Given the description of an element on the screen output the (x, y) to click on. 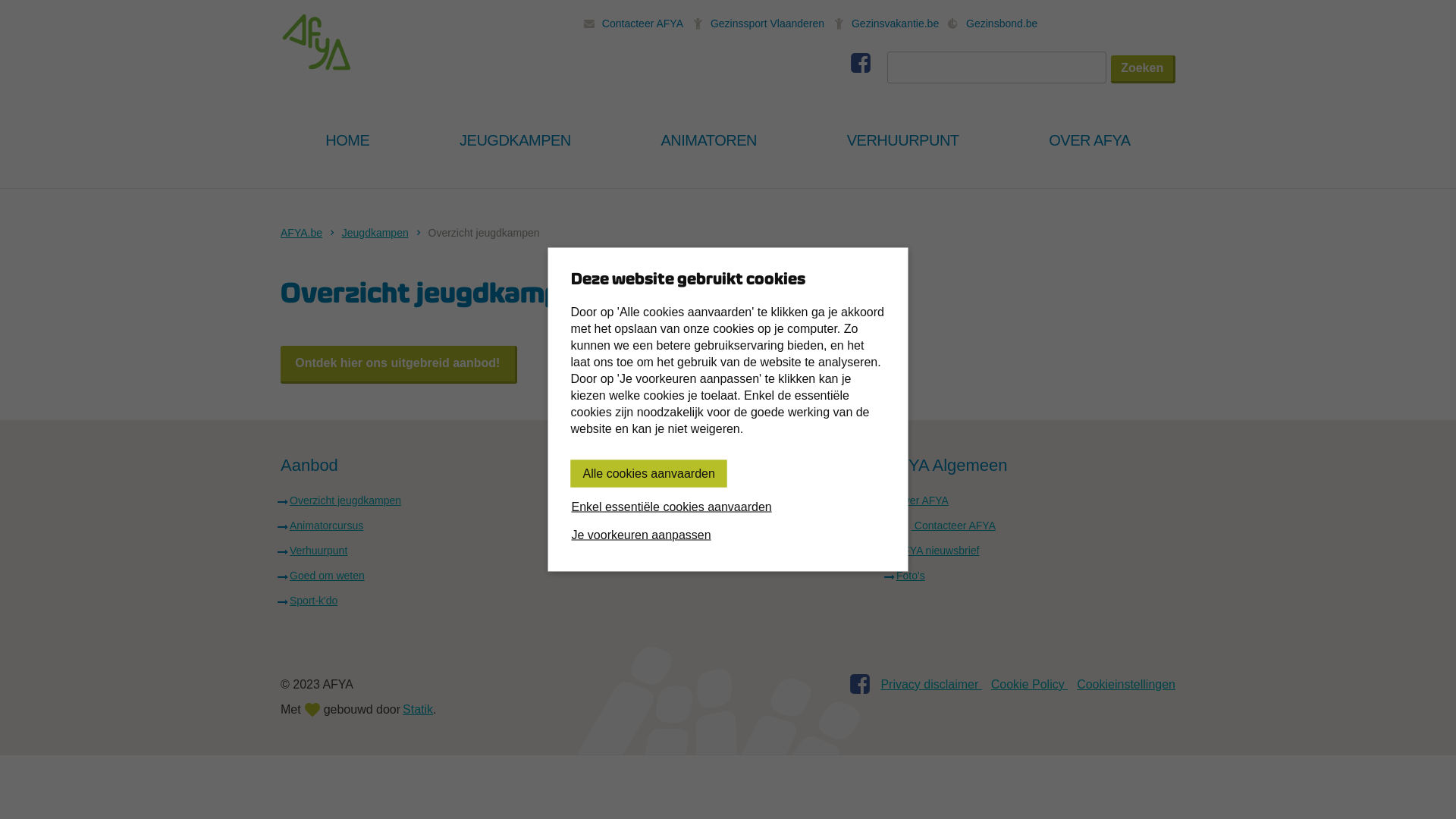
Foto's Element type: text (910, 575)
JEUGDKAMPEN Element type: text (514, 139)
Animatorcursus Element type: text (326, 525)
Cookieinstellingen Element type: text (1125, 683)
Gezinssport Vlaanderen Element type: text (758, 23)
Contacteer AFYA Element type: text (945, 525)
Overzicht jeugdkampen Element type: text (483, 232)
Zoeken Element type: text (1142, 69)
Statik Element type: text (417, 709)
Cookie Policy Element type: text (1029, 683)
Facebook Element type: text (859, 687)
Privacy disclaimer Element type: text (930, 683)
Over AFYA Element type: text (922, 500)
Verhuurpunt Element type: text (318, 550)
Jeugdkampen Element type: text (375, 232)
Trefdag Element type: text (611, 550)
Je voorkeuren aanpassen Element type: text (727, 535)
Sport-k'do Element type: text (313, 600)
Alle cookies aanvaarden Element type: text (648, 472)
VERHUURPUNT Element type: text (902, 139)
Ontdek hier ons uitgebreid aanbod! Element type: text (398, 364)
Overzicht jeugdkampen Element type: text (345, 500)
Contacteer AFYA Element type: text (633, 23)
Profielen Element type: text (613, 525)
AFYA.be Element type: text (301, 232)
Gezinsvakantie.be Element type: text (885, 23)
Gezinsbond.be Element type: text (992, 23)
OVER AFYA Element type: text (1089, 139)
AFYA.be Element type: hover (316, 41)
Facebook Element type: text (860, 66)
AFYA nieuwsbrief Element type: text (937, 550)
Vorming Element type: text (612, 500)
Goed om weten Element type: text (326, 575)
HOME Element type: text (347, 139)
ANIMATOREN Element type: text (708, 139)
